Given the description of an element on the screen output the (x, y) to click on. 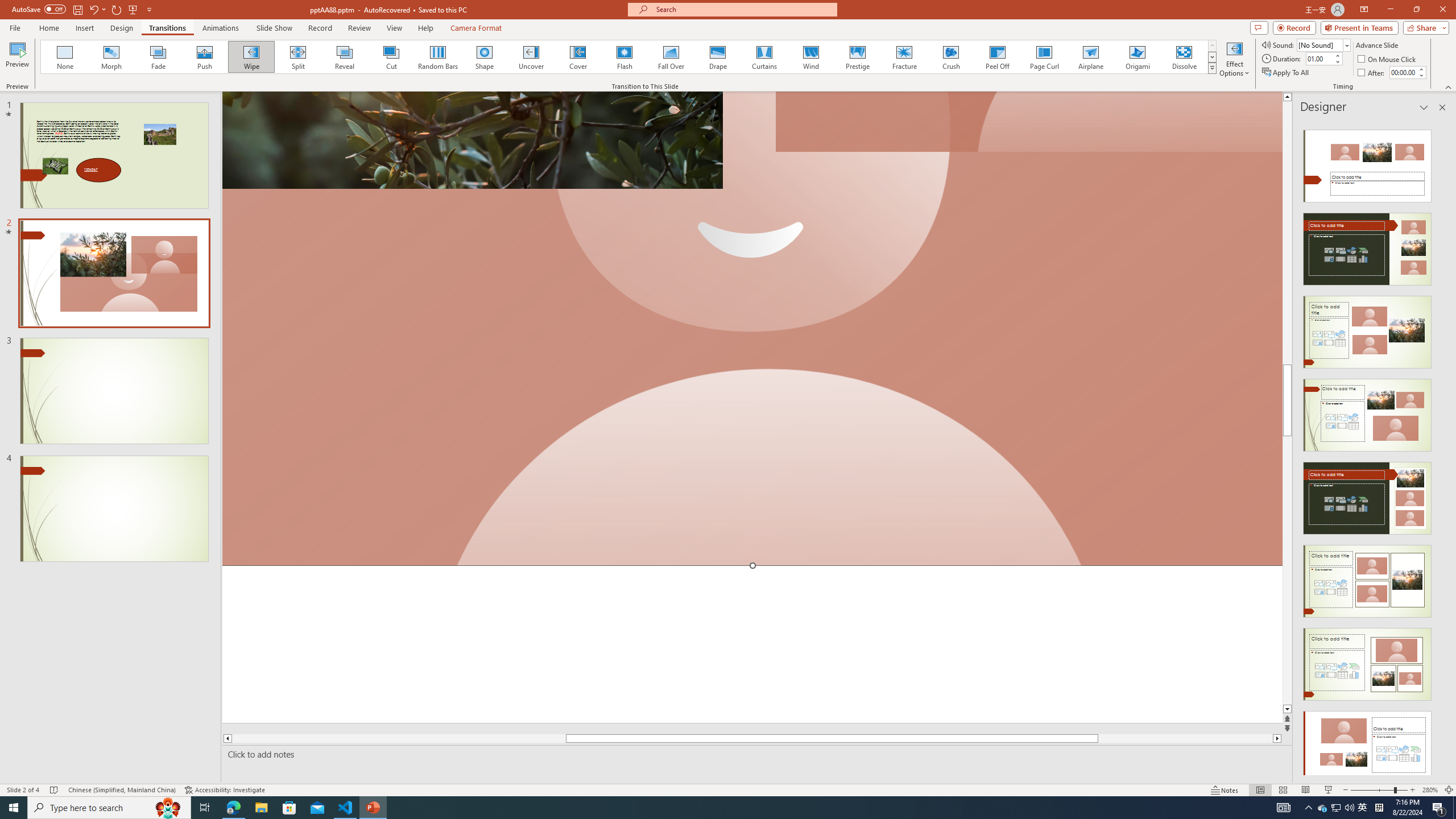
Notes  (1225, 790)
Class: NetUIScrollBar (1441, 447)
Save (77, 9)
Apply To All (1286, 72)
Fall Over (670, 56)
Class: NetUIImage (1211, 68)
Slide Show (273, 28)
Split (298, 56)
Drape (717, 56)
Flash (624, 56)
Design (122, 28)
Microsoft search (742, 9)
Home (48, 28)
Preview (17, 58)
Crush (950, 56)
